Given the description of an element on the screen output the (x, y) to click on. 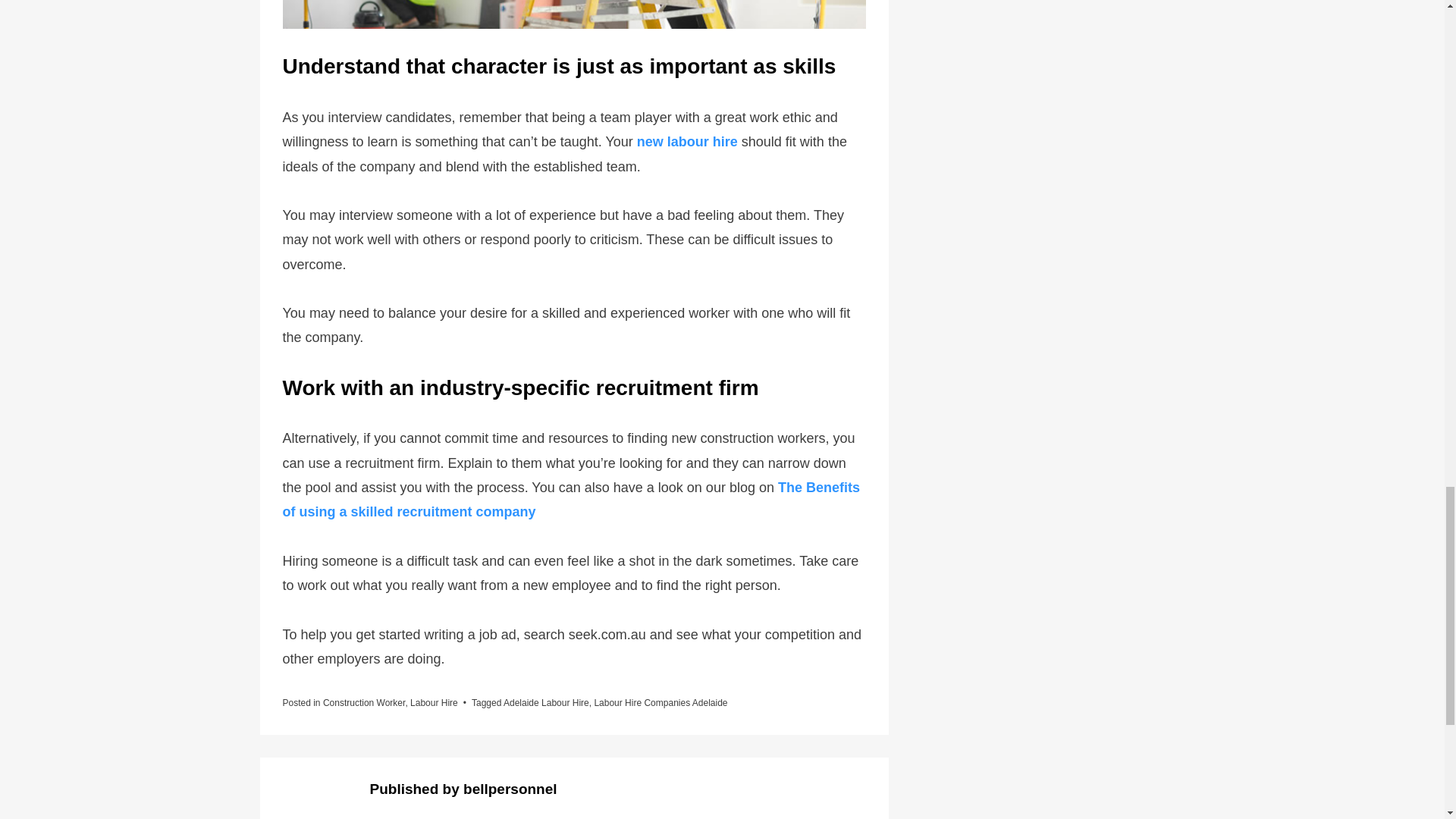
The Benefits of using a skilled recruitment company (570, 499)
Labour Hire (434, 702)
Adelaide Labour Hire (546, 702)
Construction Worker (364, 702)
new labour hire (687, 141)
Labour Hire Companies Adelaide (660, 702)
